Given the description of an element on the screen output the (x, y) to click on. 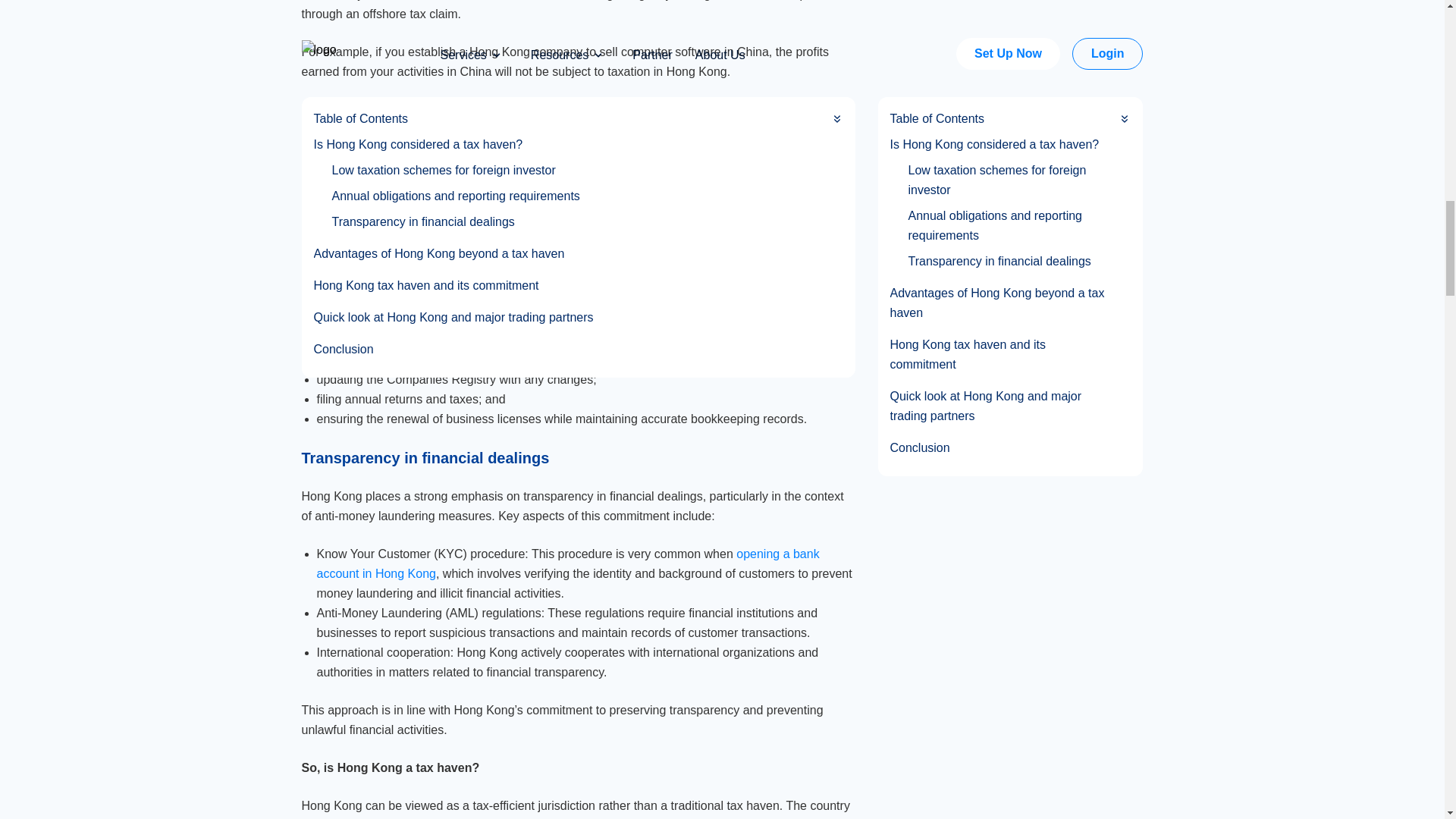
annual compliance requirements (557, 311)
salaries tax rates (419, 146)
opening a bank account in Hong Kong (568, 563)
